Given the description of an element on the screen output the (x, y) to click on. 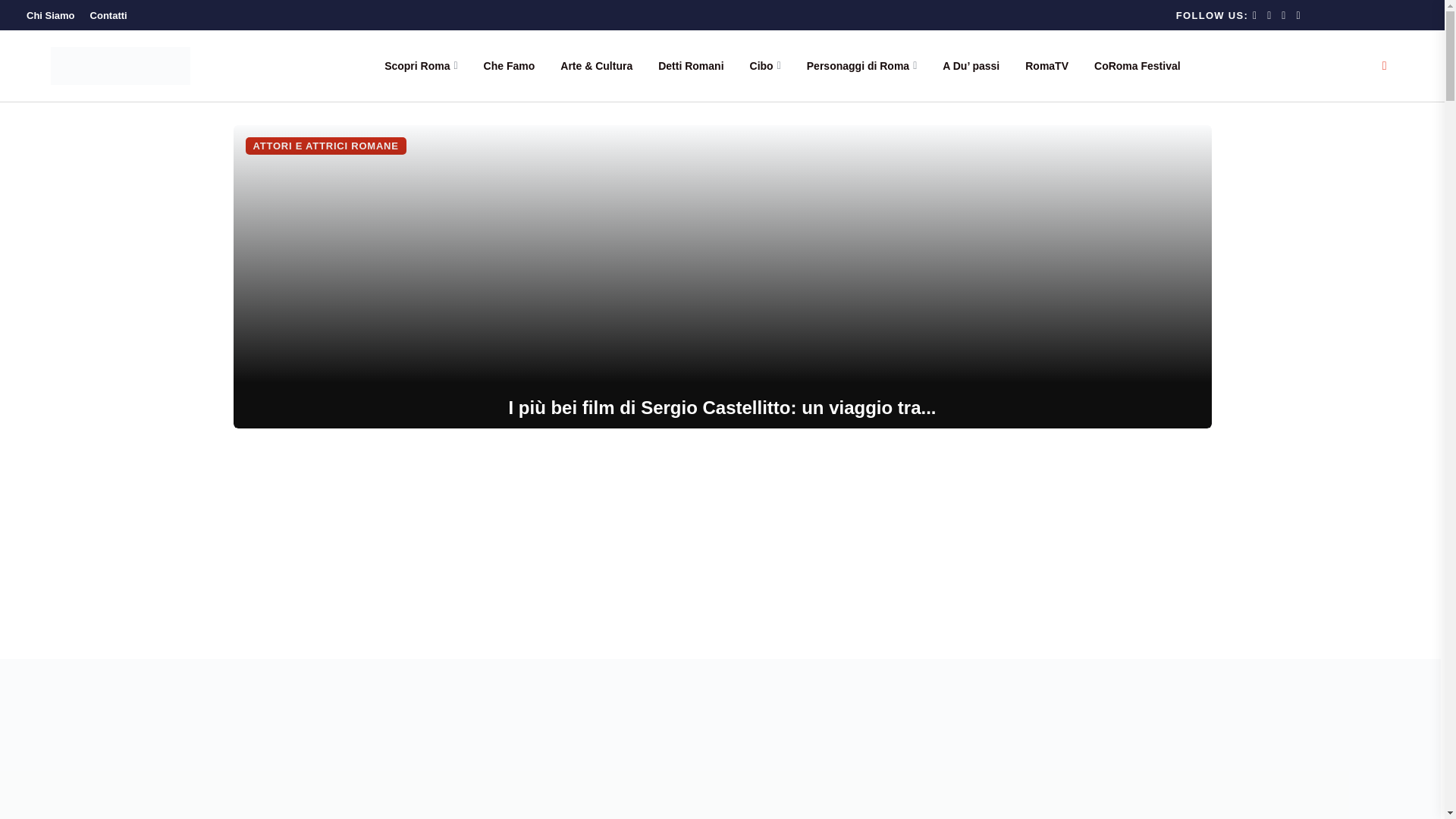
Chi Siamo (50, 15)
Scopri Roma (420, 65)
Contatti (109, 15)
RomaTV (1046, 65)
CoRoma Festival (1137, 65)
Link alla home (120, 64)
Personaggi di Roma (861, 65)
Chi Siamo (50, 15)
Contatti (109, 15)
Detti Romani (690, 65)
